Given the description of an element on the screen output the (x, y) to click on. 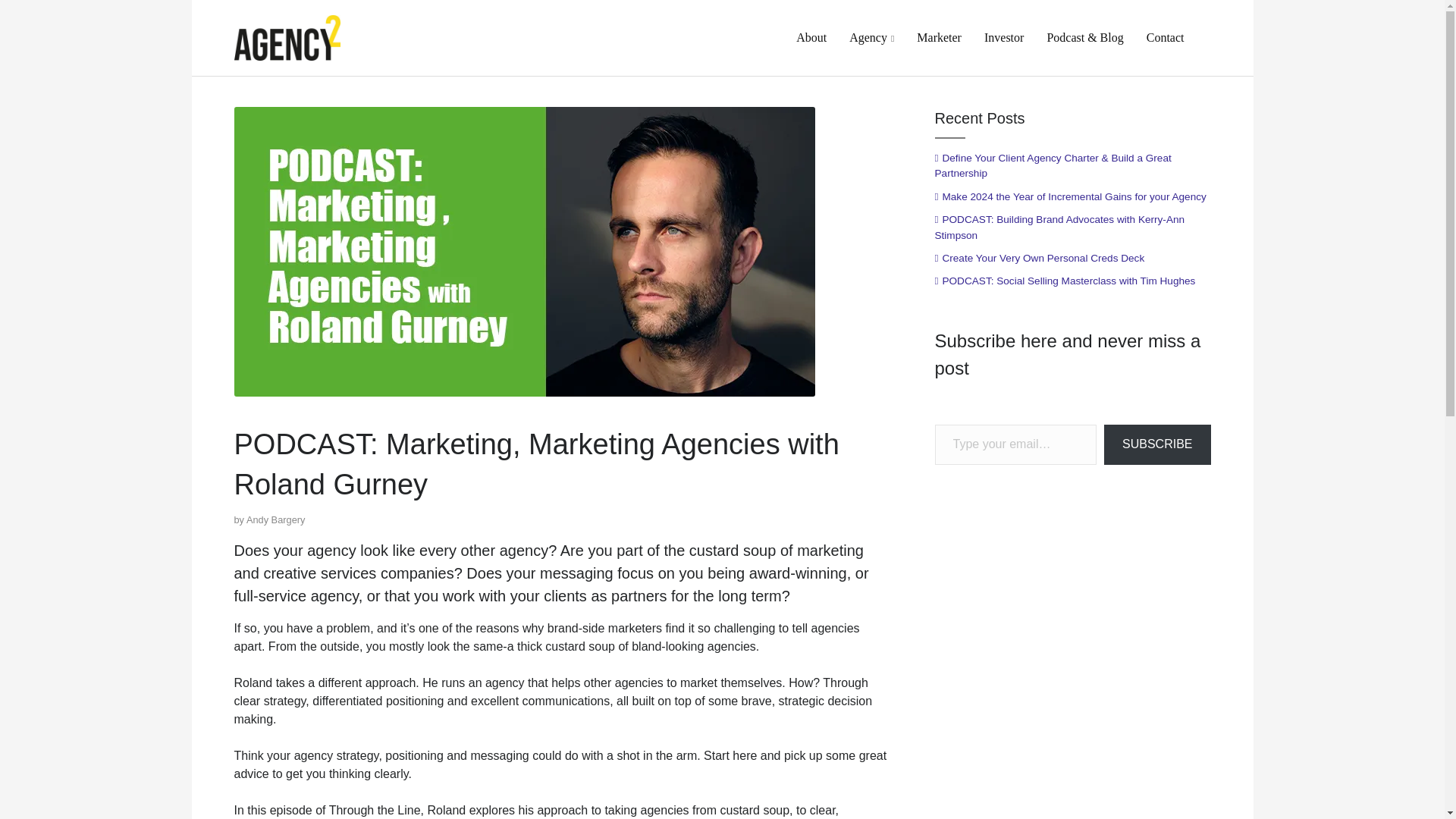
Investor (1003, 37)
Andy Bargery (275, 519)
PODCAST: Building Brand Advocates with Kerry-Ann Stimpson (1071, 227)
Contact (1166, 37)
Please fill in this field. (1015, 445)
Make 2024 the Year of Incremental Gains for your Agency (1069, 196)
About (811, 37)
View all posts by Andy Bargery (275, 519)
Marketer (938, 37)
